Given the description of an element on the screen output the (x, y) to click on. 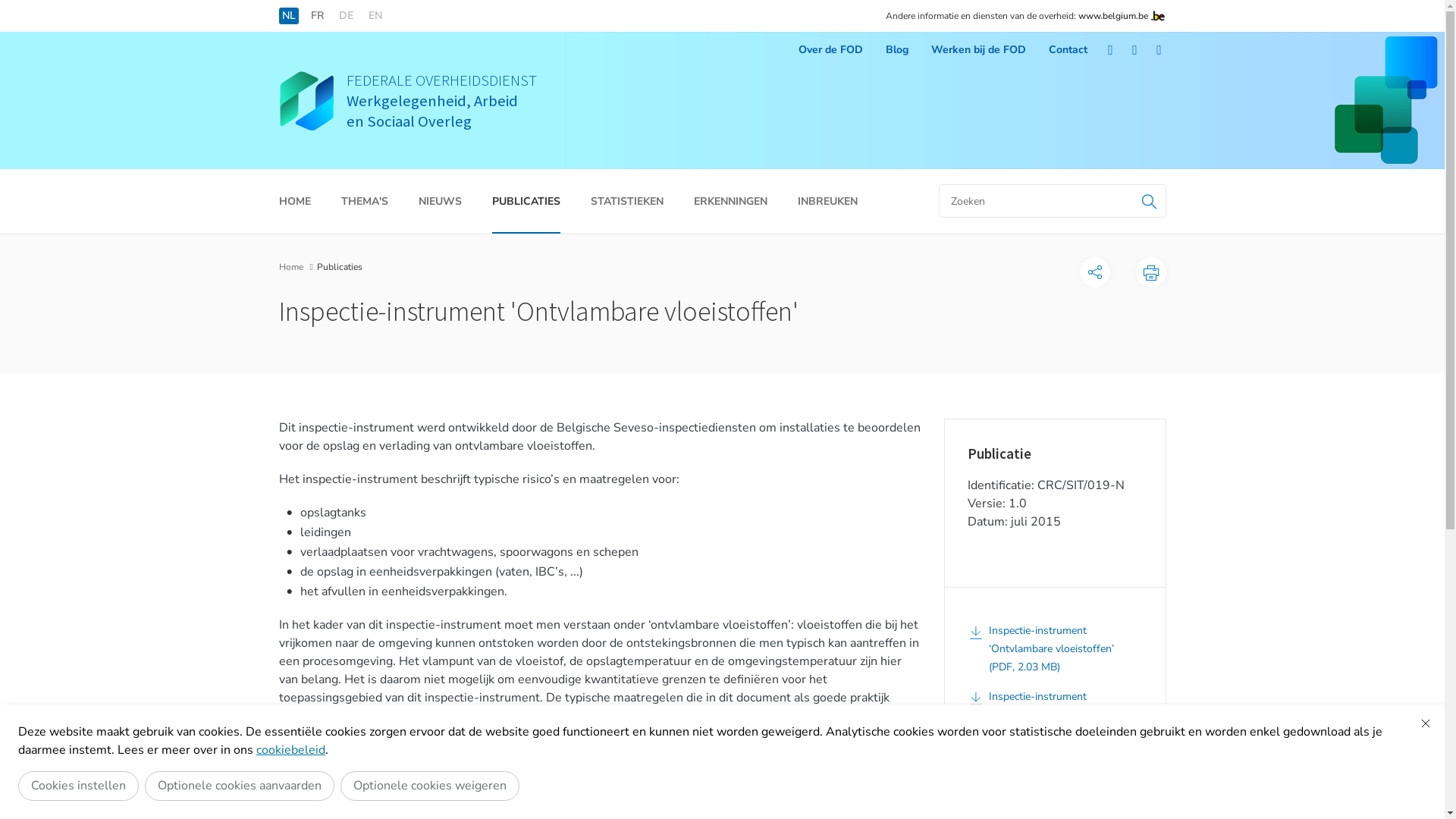
Blog Element type: text (896, 49)
Printen Element type: text (1150, 272)
HOME Element type: text (294, 201)
Home Element type: text (291, 266)
PUBLICATIES Element type: text (525, 201)
NL Element type: text (288, 15)
Contact Element type: text (1067, 49)
Optionele cookies aanvaarden Element type: text (239, 785)
NIEUWS Element type: text (439, 201)
Optionele cookies weigeren Element type: text (429, 785)
Cookies instellen Element type: text (78, 785)
Twitter Element type: text (1135, 49)
Facebook Element type: text (1110, 49)
Linkedin Element type: text (1159, 49)
Delen Element type: text (1094, 272)
FR Element type: text (316, 15)
fulltext Element type: hover (1052, 200)
STATISTIEKEN Element type: text (625, 201)
Publicaties Element type: text (339, 266)
Sluiten Element type: hover (1425, 723)
cookiebeleid Element type: text (290, 749)
Over de FOD Element type: text (829, 49)
Overslaan en naar de inhoud gaan Element type: text (7, 4)
THEMA'S Element type: text (364, 201)
INBREUKEN Element type: text (827, 201)
Werken bij de FOD Element type: text (978, 49)
www.belgium.be Element type: text (1113, 15)
ERKENNINGEN Element type: text (729, 201)
Zoeken Element type: text (1149, 200)
